Given the description of an element on the screen output the (x, y) to click on. 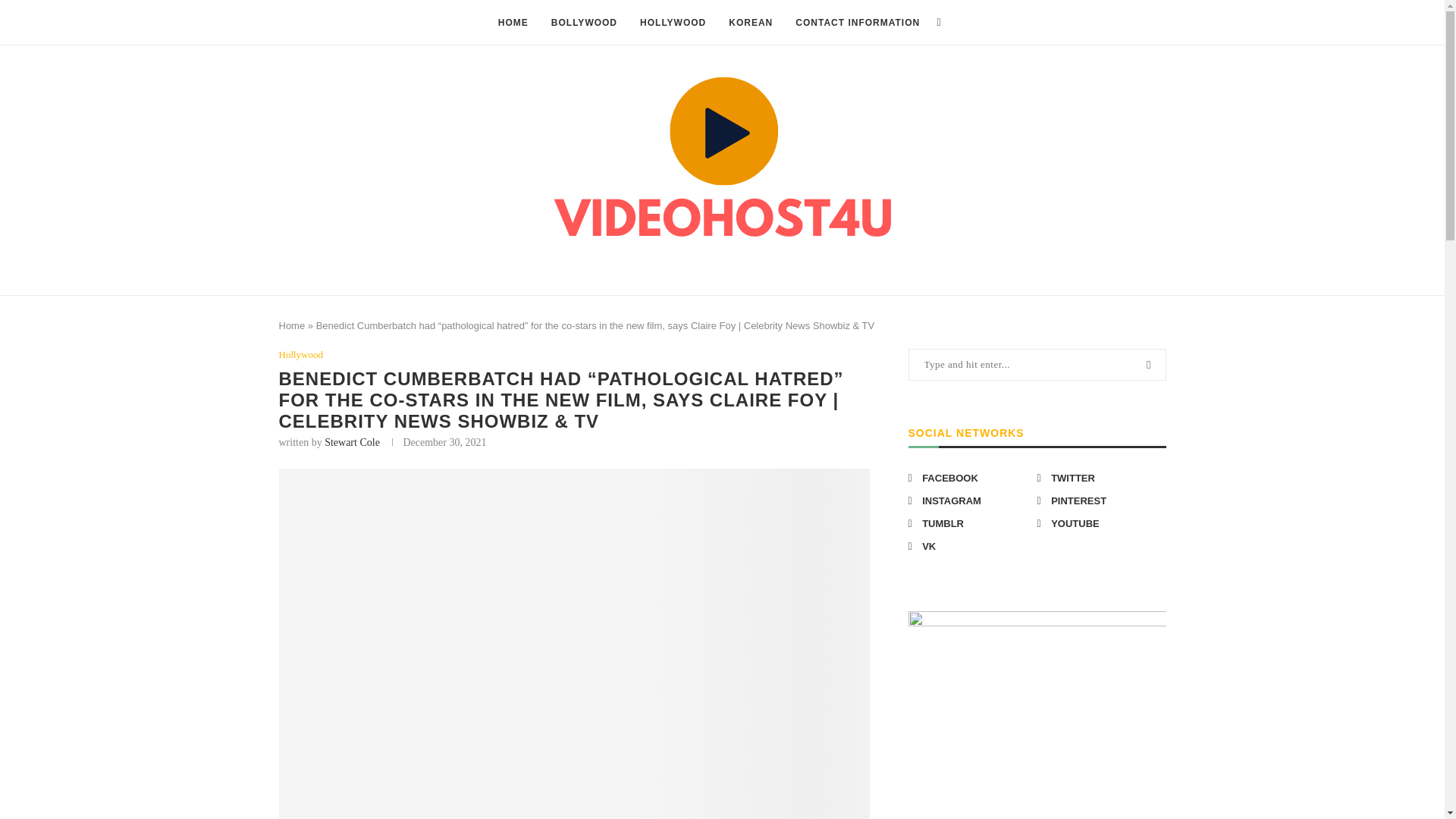
KOREAN (751, 22)
Stewart Cole (352, 441)
HOLLYWOOD (673, 22)
CONTACT INFORMATION (857, 22)
Home (292, 325)
BOLLYWOOD (584, 22)
Hollywood (301, 354)
